Given the description of an element on the screen output the (x, y) to click on. 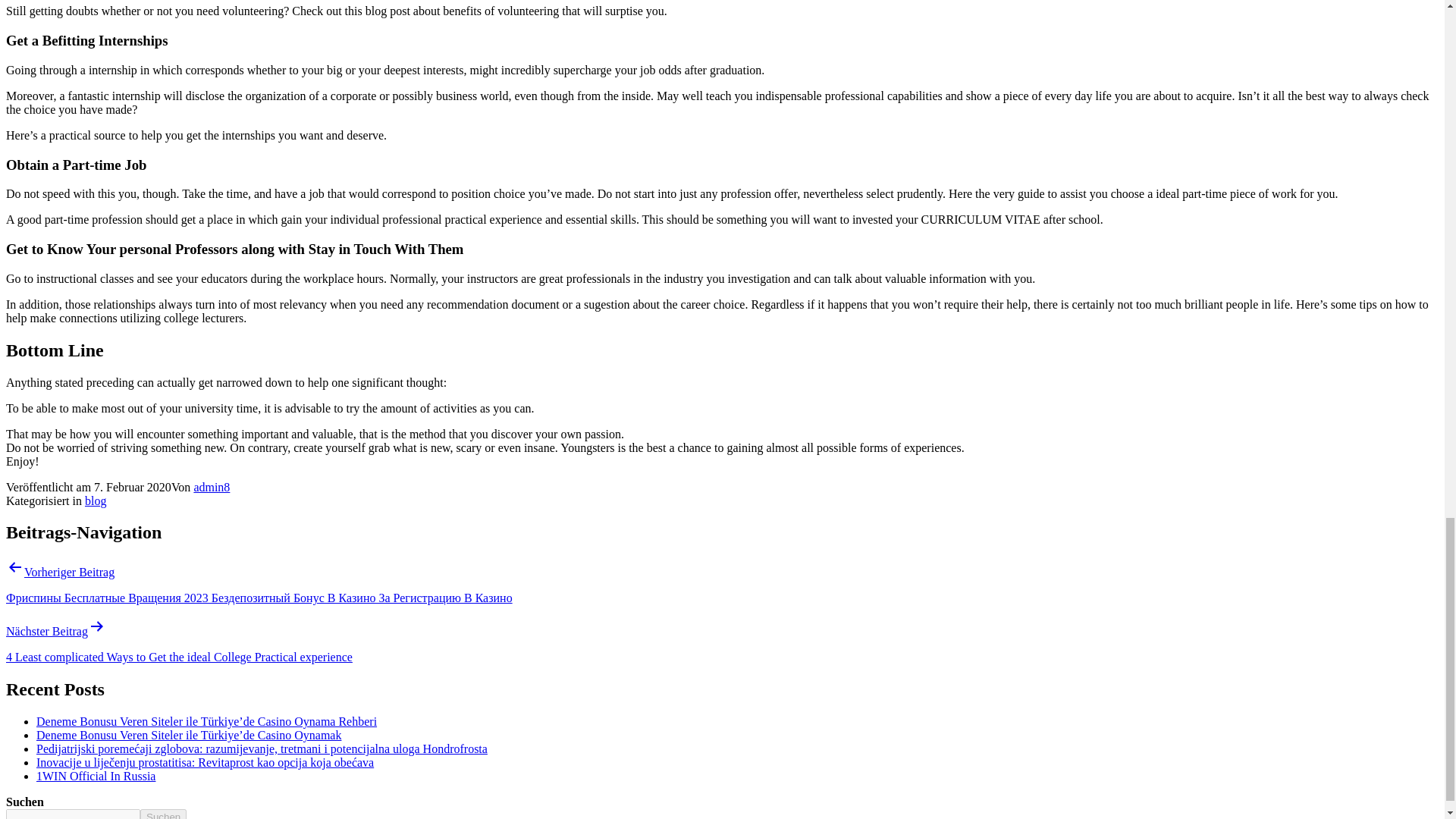
admin8 (211, 486)
1WIN Official In Russia (95, 775)
blog (95, 500)
